Given the description of an element on the screen output the (x, y) to click on. 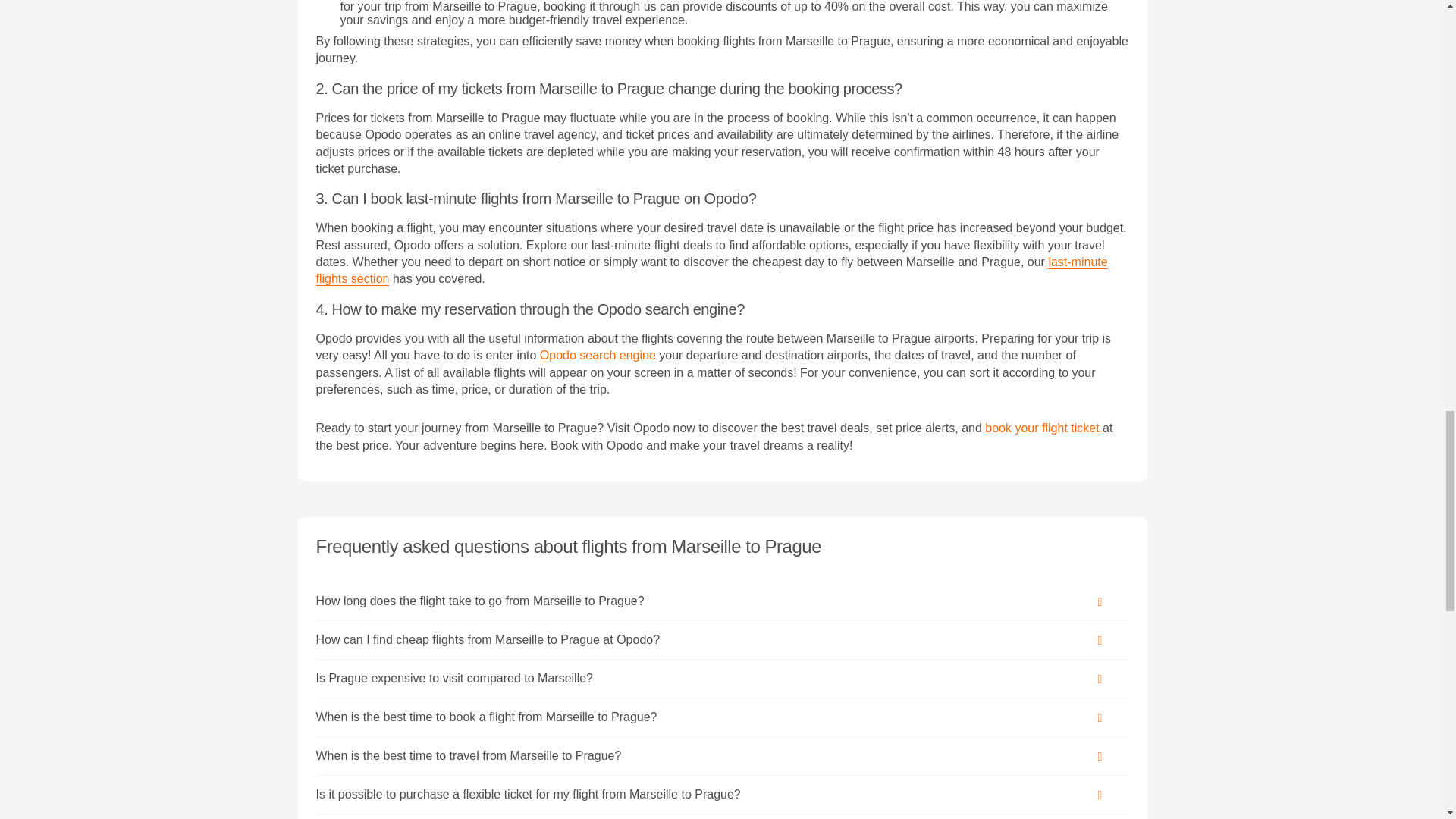
Opodo search engine (598, 355)
book your flight ticket (1042, 427)
last-minute flights section (710, 270)
